Given the description of an element on the screen output the (x, y) to click on. 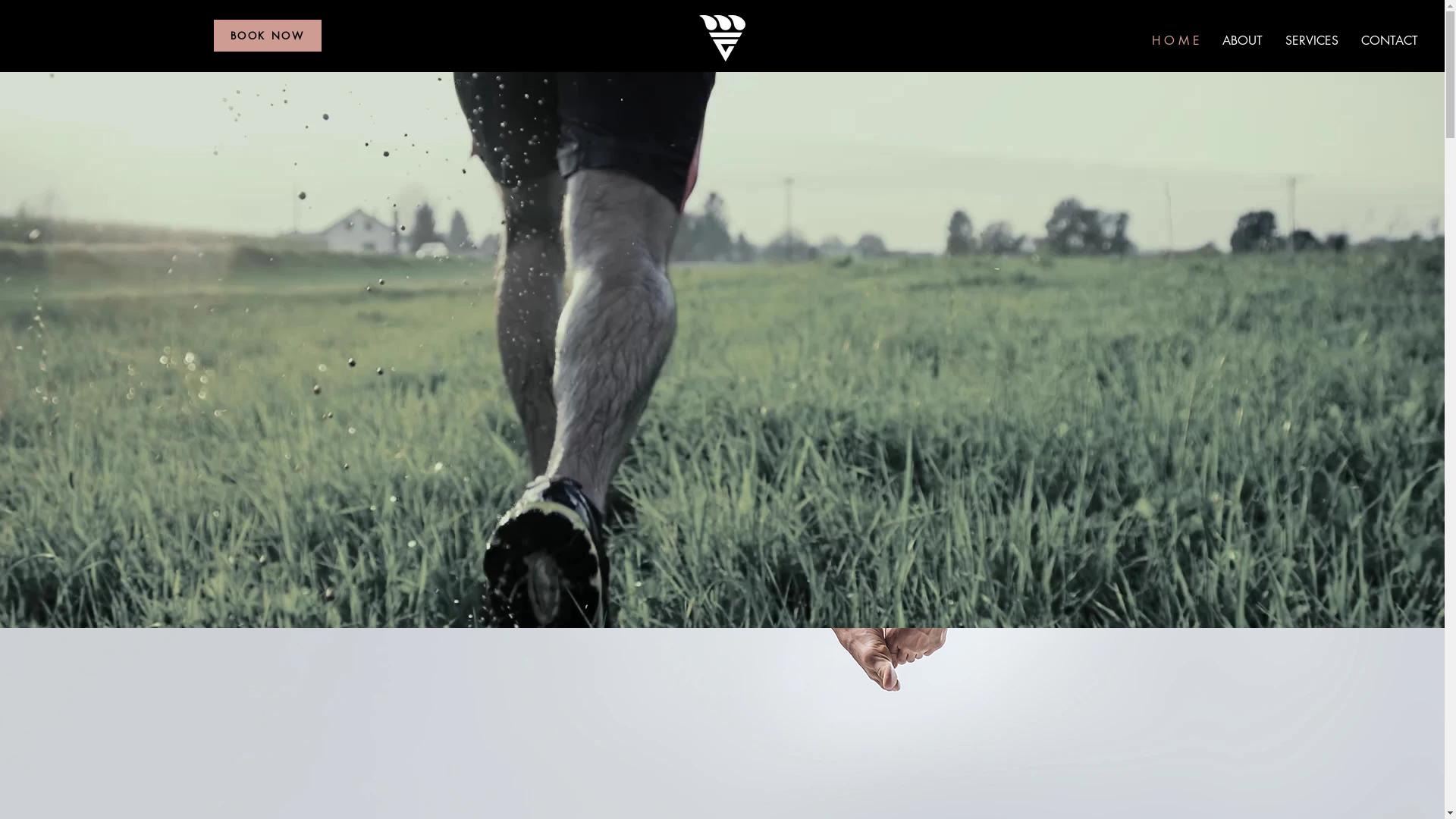
SERVICES Element type: text (1311, 40)
CONTACT Element type: text (1389, 40)
ABOUT Element type: text (1242, 40)
BOOK NOW Element type: text (267, 35)
H O M E Element type: text (1175, 40)
